Given the description of an element on the screen output the (x, y) to click on. 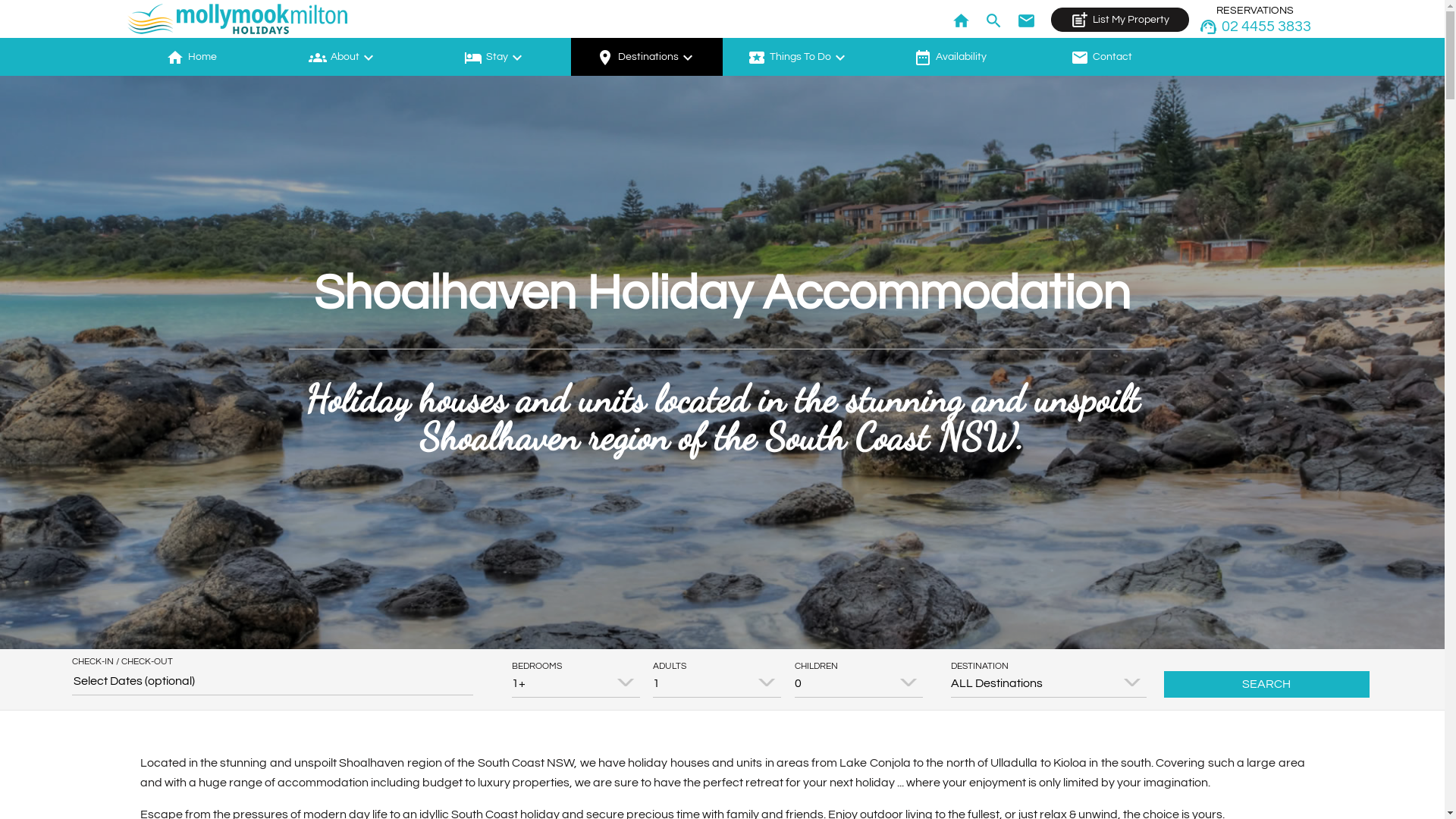
emailContact Element type: text (1100, 56)
Select Dates (optional) Element type: text (272, 680)
date_rangeAvailability Element type: text (949, 56)
post_addList My Property Element type: text (1120, 19)
email Element type: text (1028, 15)
support_agent02 4455 3833 Element type: text (1254, 25)
groupsAboutexpand_more Element type: text (342, 56)
homeHome Element type: text (190, 56)
SEARCH Element type: text (1267, 684)
hotelStayexpand_more Element type: text (494, 56)
home Element type: text (963, 15)
search Element type: text (995, 15)
local_activityThings To Doexpand_more Element type: text (797, 56)
placeDestinationsexpand_more Element type: text (645, 56)
